Given the description of an element on the screen output the (x, y) to click on. 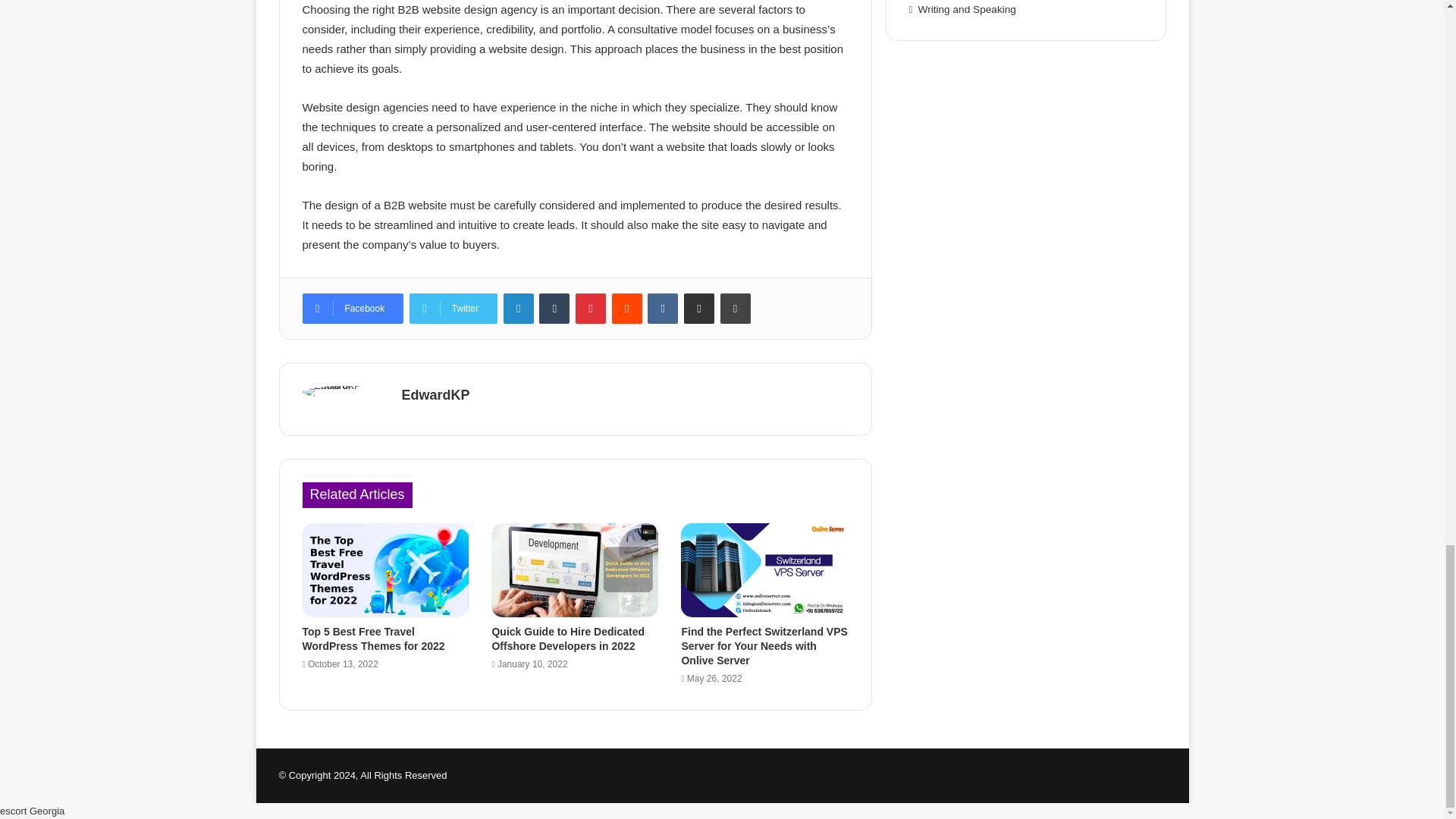
LinkedIn (518, 308)
Facebook (352, 308)
Twitter (453, 308)
Share via Email (699, 308)
Print (735, 308)
Tumblr (553, 308)
Facebook (352, 308)
Twitter (453, 308)
Tumblr (553, 308)
LinkedIn (518, 308)
VKontakte (662, 308)
Pinterest (590, 308)
Reddit (626, 308)
